Given the description of an element on the screen output the (x, y) to click on. 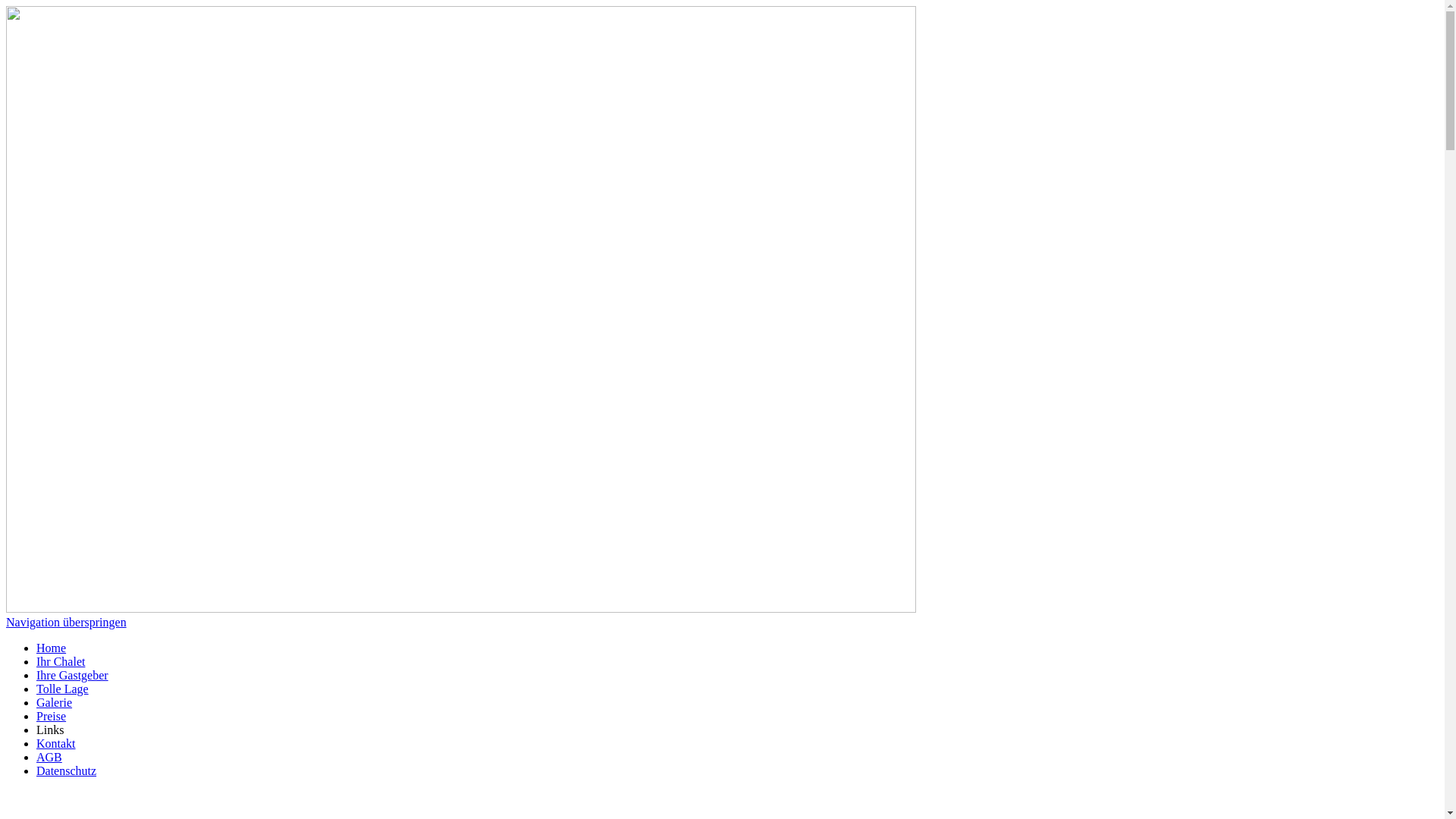
Tolle Lage Element type: text (62, 688)
Preise Element type: text (50, 715)
AGB Element type: text (49, 756)
Galerie Element type: text (54, 702)
Kontakt Element type: text (55, 743)
  Element type: text (7, 796)
Ihre Gastgeber Element type: text (72, 674)
Datenschutz Element type: text (66, 770)
Home Element type: text (50, 647)
Ihr Chalet Element type: text (60, 661)
